Given the description of an element on the screen output the (x, y) to click on. 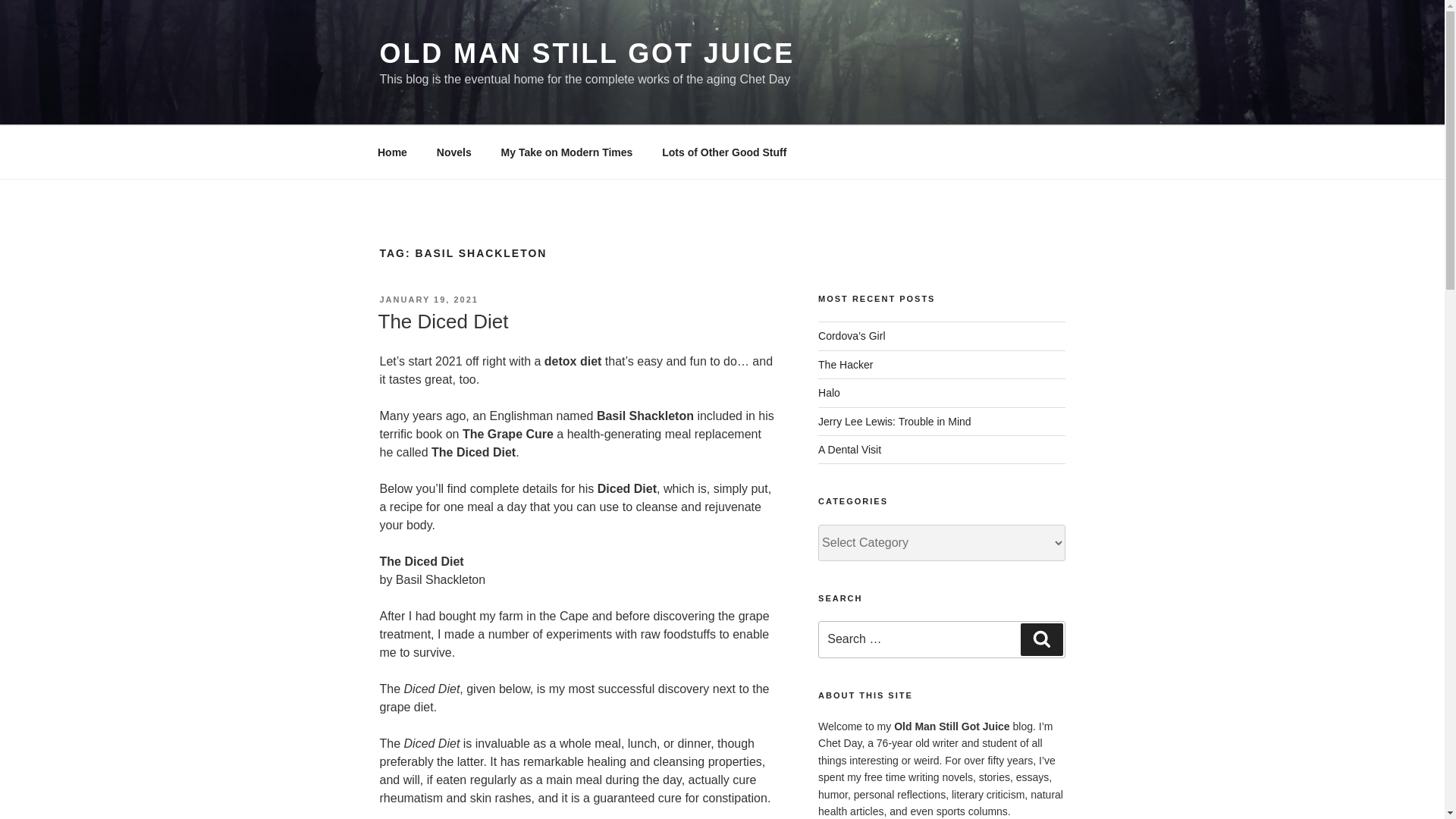
My Take on Modern Times (566, 151)
Jerry Lee Lewis: Trouble in Mind (894, 421)
Novels (453, 151)
Home (392, 151)
JANUARY 19, 2021 (427, 298)
The Diced Diet (442, 321)
Lots of Other Good Stuff (724, 151)
A Dental Visit (849, 449)
The Hacker (845, 364)
Halo (829, 392)
OLD MAN STILL GOT JUICE (586, 52)
Search (1041, 639)
